Given the description of an element on the screen output the (x, y) to click on. 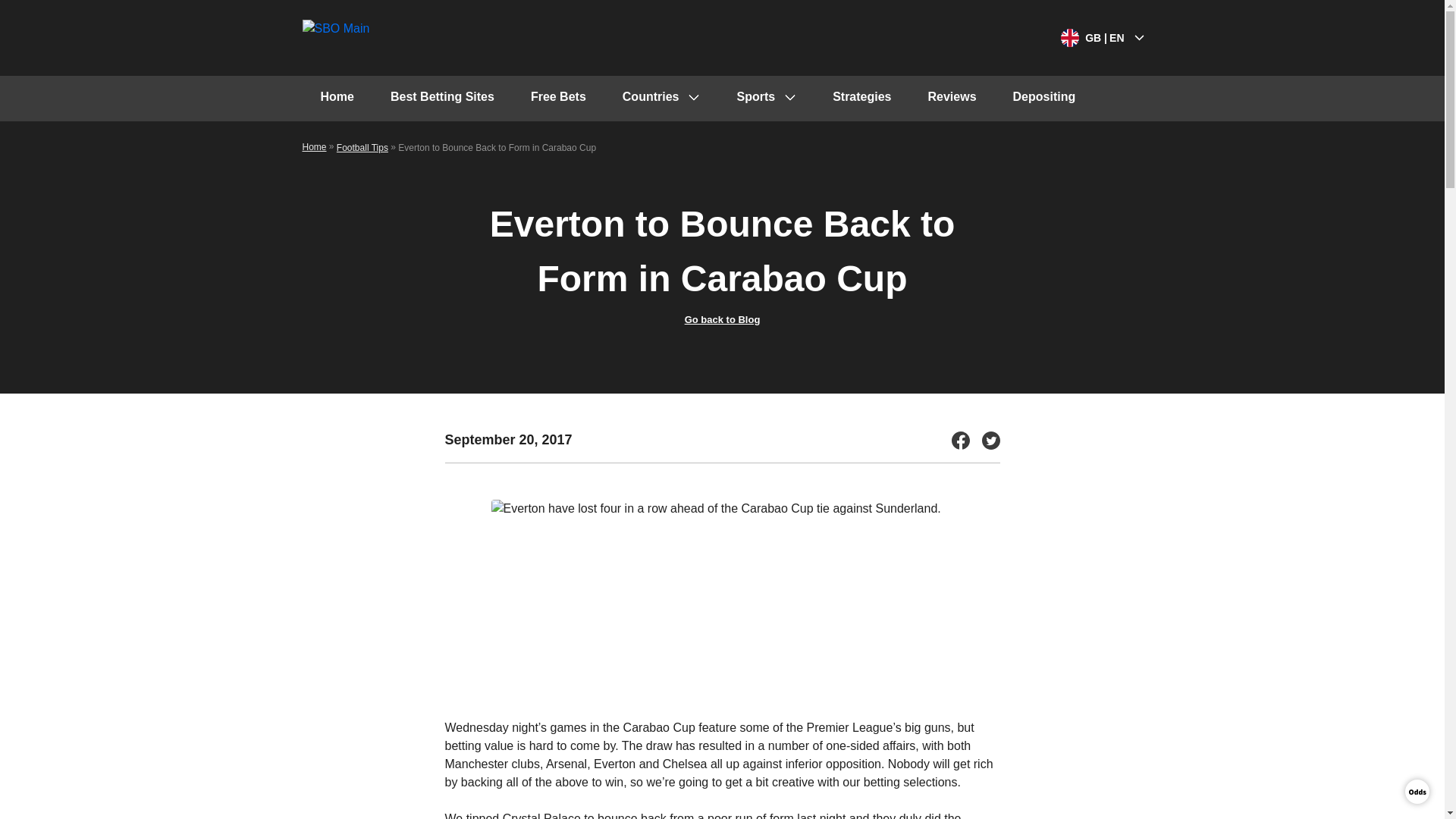
Home (313, 146)
Countries (661, 98)
Free Bets (558, 98)
Football Tips (362, 147)
Home (336, 98)
Go back to Blog (722, 319)
Best Betting Sites (442, 98)
Strategies (860, 98)
Reviews (952, 98)
Sports (765, 98)
Depositing (1044, 98)
